Given the description of an element on the screen output the (x, y) to click on. 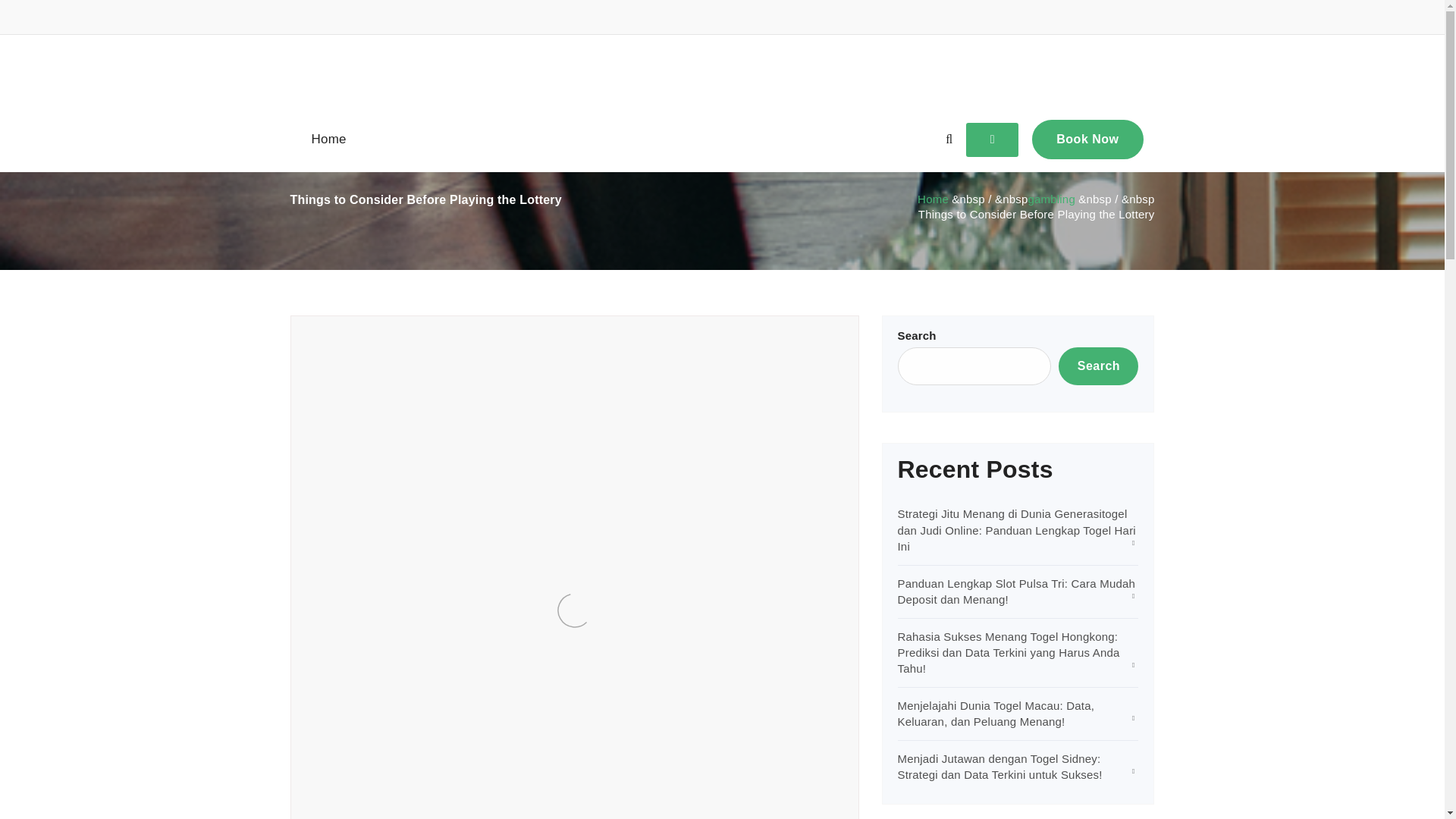
toto macau (587, 348)
pengeluaran macau (370, 532)
togel macau (528, 348)
pengeluaran macau (386, 348)
blogdoeduardodantas.com (722, 71)
gambling (381, 333)
live macau (704, 333)
